Given the description of an element on the screen output the (x, y) to click on. 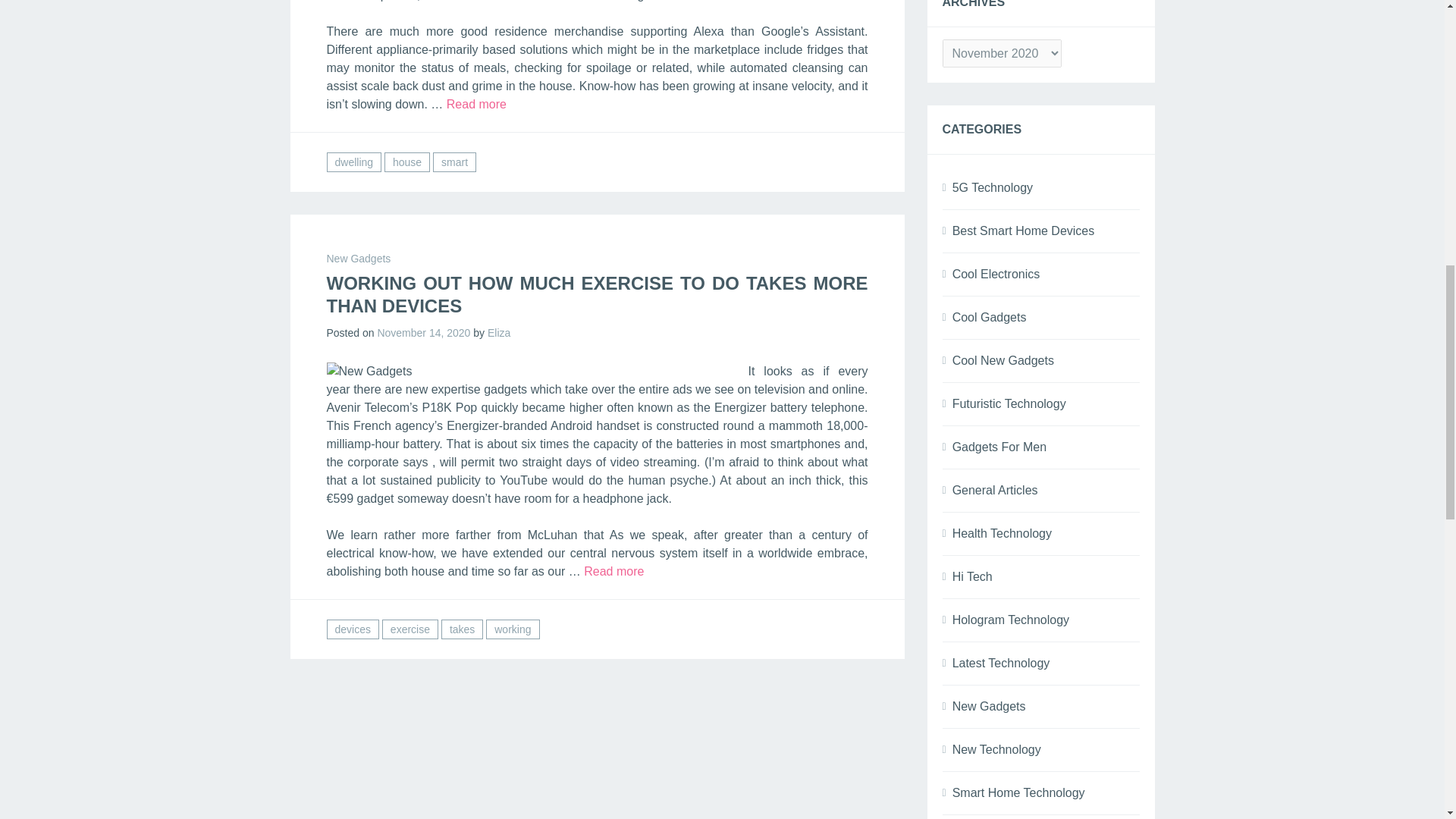
dwelling (353, 161)
WORKING OUT HOW MUCH EXERCISE TO DO TAKES MORE THAN DEVICES (596, 294)
house (406, 161)
exercise (409, 629)
takes (462, 629)
Read more (613, 571)
devices (352, 629)
working (512, 629)
Eliza (499, 332)
Read more (476, 103)
